Given the description of an element on the screen output the (x, y) to click on. 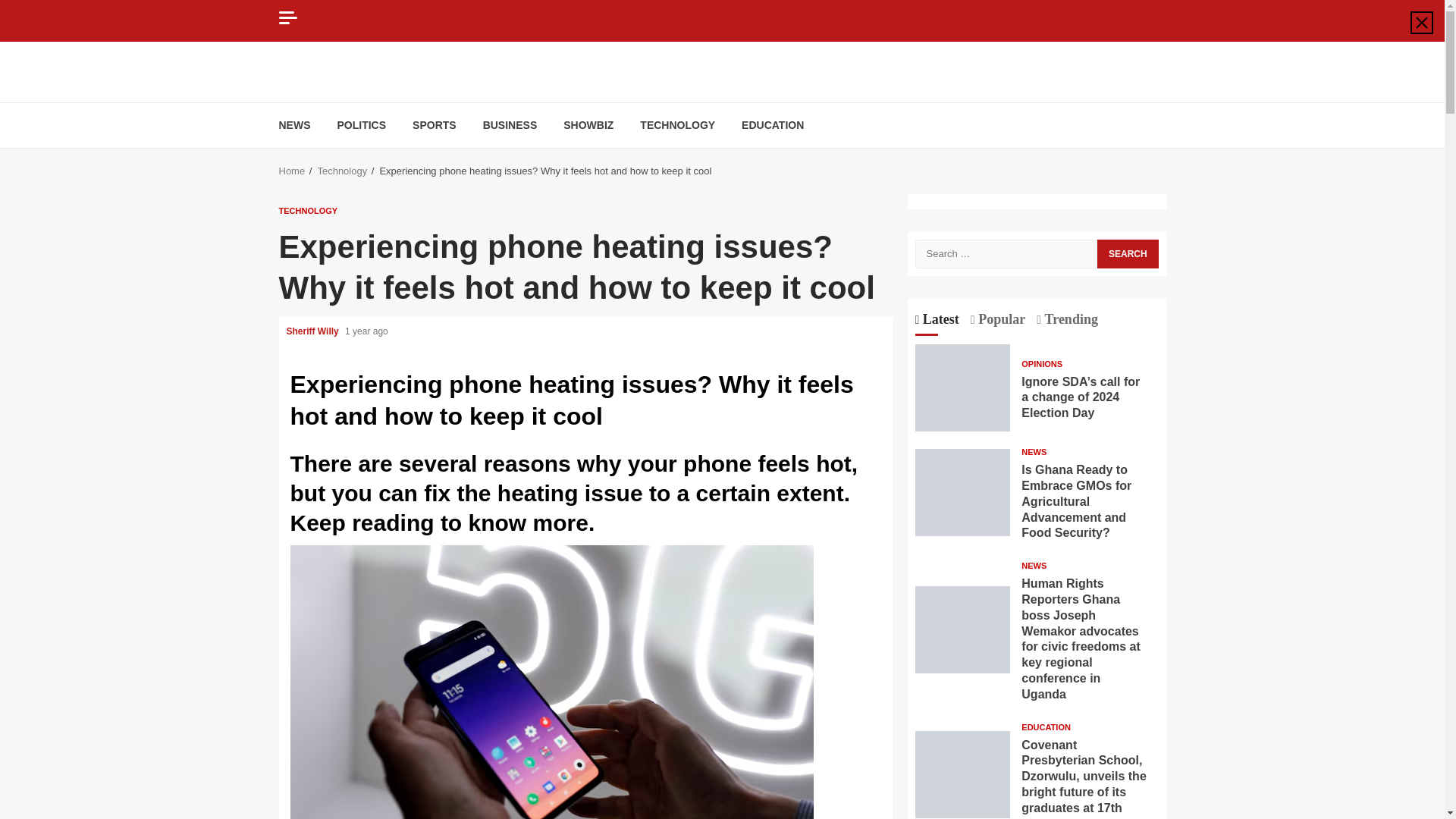
Home (292, 170)
TECHNOLOGY (677, 124)
SHOWBIZ (587, 124)
EDUCATION (772, 124)
Search (1126, 150)
POLITICS (360, 124)
TECHNOLOGY (308, 210)
SPORTS (434, 124)
BUSINESS (510, 124)
Technology (341, 170)
